Given the description of an element on the screen output the (x, y) to click on. 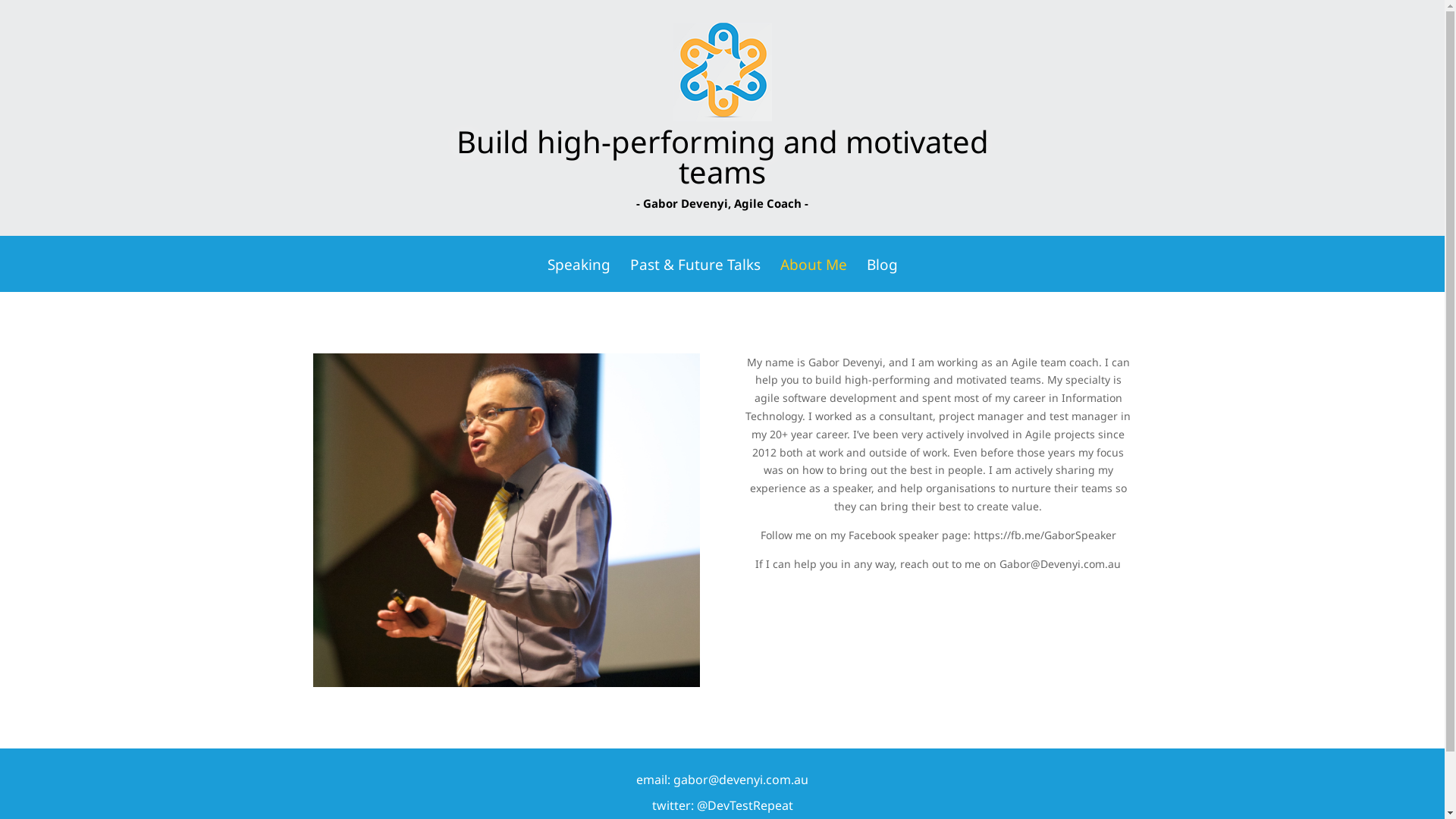
Gabor@Devenyi.com.au Element type: text (1059, 563)
Blog Element type: text (881, 275)
Past & Future Talks Element type: text (694, 275)
Speaking Element type: text (578, 275)
About Me Element type: text (812, 275)
https://fb.me/GaborSpeaker Element type: text (1044, 534)
twitter: @DevTestRepeat Element type: text (722, 805)
email: gabor@devenyi.com.au Element type: text (722, 779)
